Given the description of an element on the screen output the (x, y) to click on. 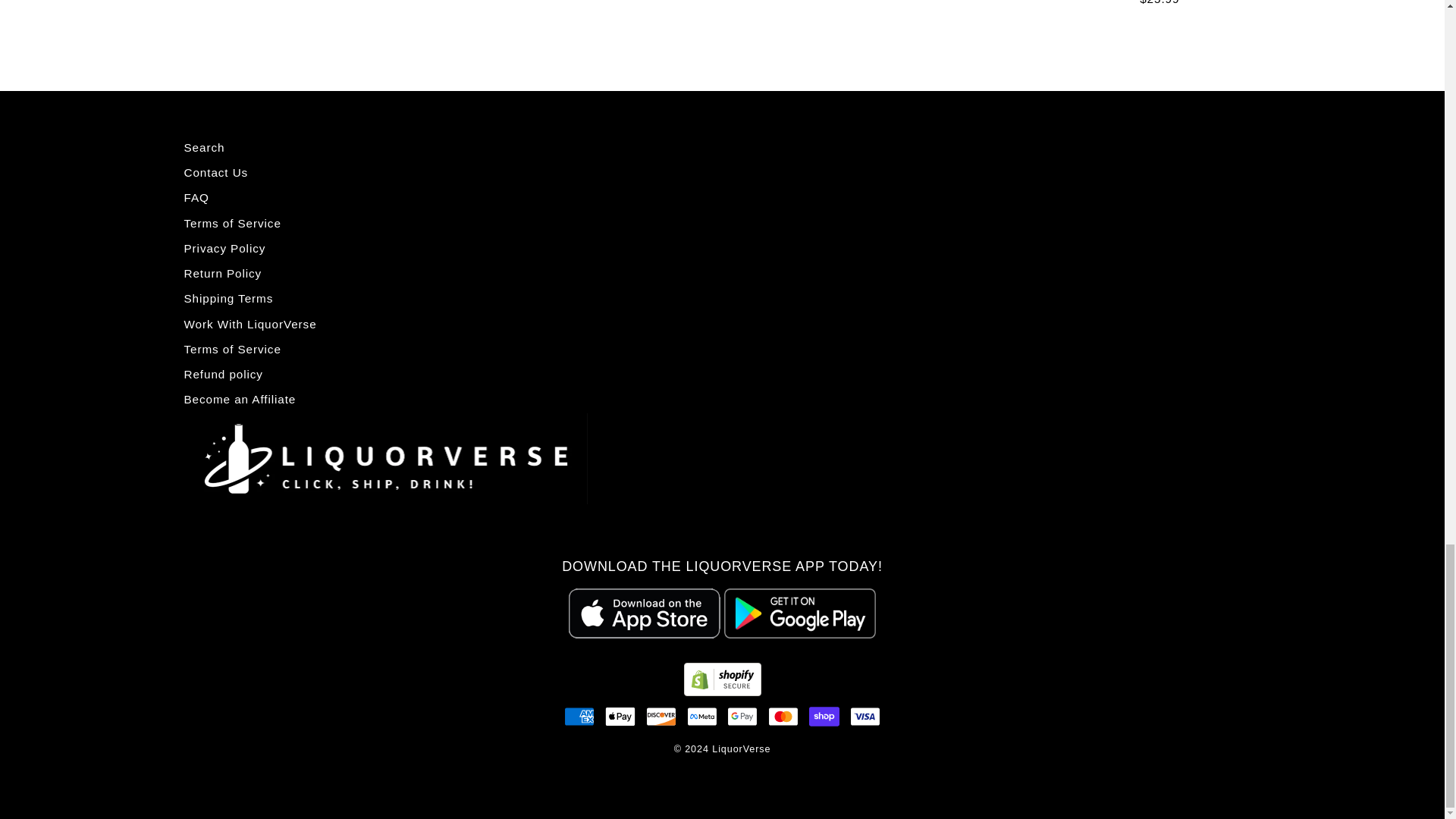
Mastercard (782, 716)
Shop Pay (824, 716)
Visa (865, 716)
This online store is secured by Shopify (722, 691)
Discover (661, 716)
Meta Pay (702, 716)
American Express (579, 716)
Google Pay (741, 716)
Apple Pay (619, 716)
